Given the description of an element on the screen output the (x, y) to click on. 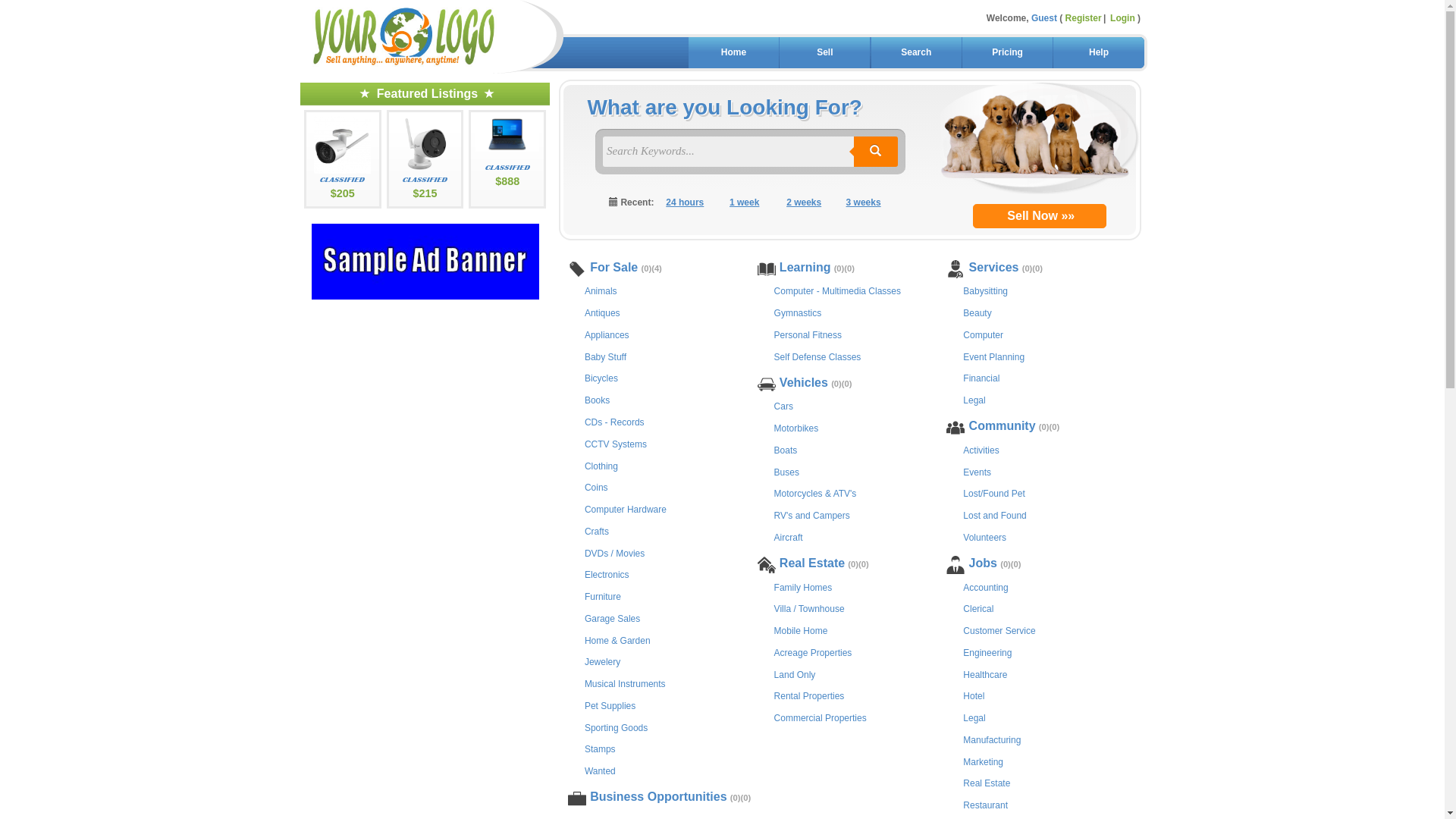
  Help   Element type: text (1098, 52)
Computer Element type: text (983, 333)
Real Estate Element type: text (811, 563)
Sample Ad Banner Element type: hover (424, 261)
Activities Element type: text (980, 448)
Restaurant Element type: text (985, 803)
Vehicles Element type: text (803, 383)
Marketing Element type: text (983, 760)
Real Estate Element type: text (986, 781)
Jewelery Element type: text (602, 660)
Mobile Home Element type: text (801, 629)
  Sell   Element type: text (824, 52)
Bicycles Element type: text (601, 376)
Computer Hardware Element type: text (625, 508)
RV's and Campers Element type: text (812, 514)
Computer - Multimedia Classes Element type: text (837, 289)
Land Only Element type: text (794, 673)
For Sale Element type: text (613, 268)
Customer Service Element type: text (999, 629)
Rental Properties Element type: text (809, 694)
Cars Element type: text (783, 404)
Antiques Element type: text (602, 311)
Wanted Element type: text (599, 769)
Events Element type: text (977, 470)
Manufacturing Element type: text (991, 738)
Australia's No1 Online Marketplace Element type: hover (429, 36)
Baby Stuff Element type: text (605, 355)
Coins Element type: text (596, 486)
Beauty Element type: text (977, 311)
Furniture Element type: text (602, 595)
Gymnastics Element type: text (798, 311)
Legal Element type: text (974, 716)
Register Element type: text (1086, 17)
Motorcycles & ATV's Element type: text (815, 492)
Jobs Element type: text (982, 563)
  Search   Element type: text (916, 52)
Legal Element type: text (974, 398)
Musical Instruments Element type: text (624, 682)
24 hours Element type: text (684, 202)
Event Planning Element type: text (993, 355)
Hotel Element type: text (973, 694)
Engineering Element type: text (987, 651)
Boats Element type: text (785, 448)
  Pricing   Element type: text (1007, 52)
CCTV Systems Element type: text (615, 442)
Self Defense Classes Element type: text (817, 355)
Babysitting Element type: text (985, 289)
Commercial Properties Element type: text (820, 716)
Sporting Goods Element type: text (615, 726)
Services Element type: text (993, 268)
Australia's No1 Online Marketplace Element type: hover (403, 33)
Lost/Found Pet Element type: text (993, 492)
Garage Sales Element type: text (612, 617)
Accounting Element type: text (985, 586)
Login Element type: text (1122, 17)
Volunteers Element type: text (984, 536)
Pet Supplies Element type: text (609, 704)
3 weeks Element type: text (862, 202)
Community Element type: text (1001, 426)
Clerical Element type: text (978, 607)
Australia's No1 Online Marketplace Element type: hover (403, 35)
CDs - Records Element type: text (614, 420)
Appliances Element type: text (606, 333)
Buses Element type: text (786, 470)
Home & Garden Element type: text (617, 639)
Books Element type: text (596, 398)
Electronics Element type: text (606, 573)
Personal Fitness Element type: text (807, 333)
2 weeks Element type: text (803, 202)
  Home   Element type: text (733, 52)
Business Opportunities Element type: text (658, 797)
Crafts Element type: text (596, 530)
Animals Element type: text (600, 289)
DVDs / Movies Element type: text (614, 552)
Clothing Element type: text (601, 464)
Lost and Found Element type: text (994, 514)
Family Homes Element type: text (803, 586)
Villa / Townhouse Element type: text (809, 607)
Acreage Properties Element type: text (813, 651)
1 week Element type: text (743, 202)
Motorbikes Element type: text (796, 426)
Aircraft Element type: text (788, 536)
Learning Element type: text (804, 268)
Financial Element type: text (981, 376)
Healthcare Element type: text (985, 673)
Stamps Element type: text (599, 747)
